Given the description of an element on the screen output the (x, y) to click on. 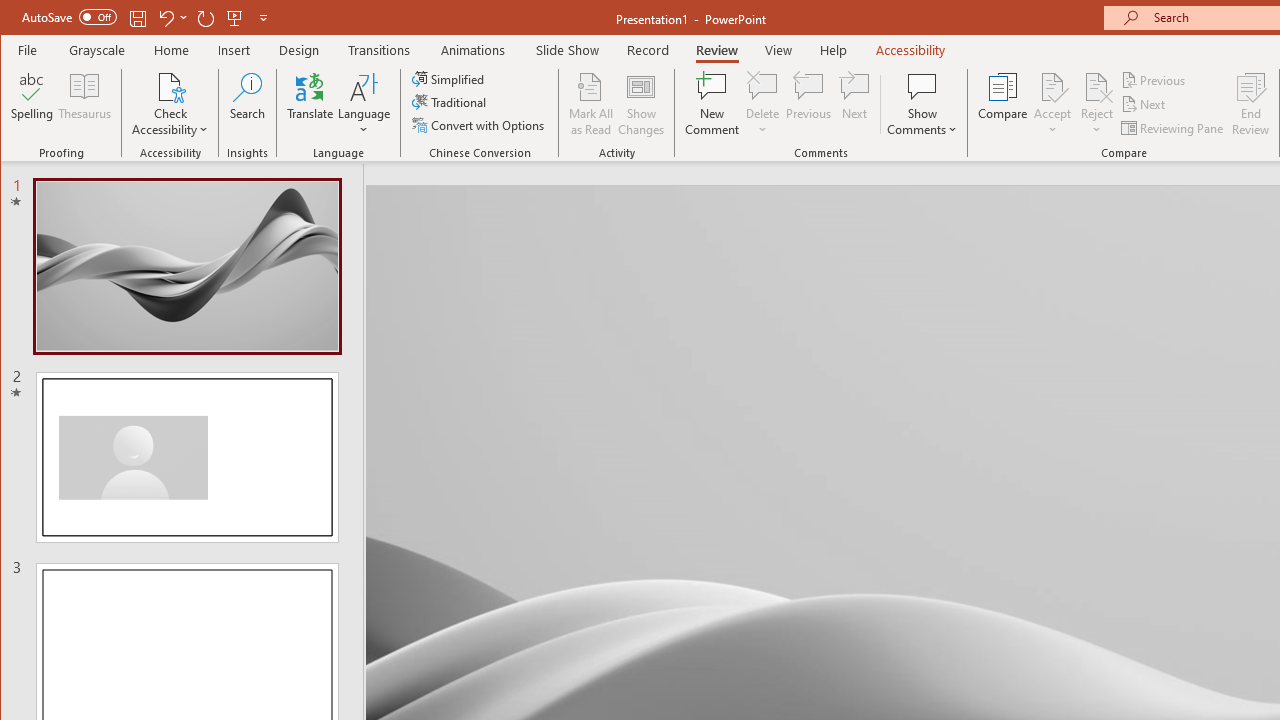
Mark All as Read (591, 104)
Simplified (450, 78)
Compare (1002, 104)
Accept (1052, 104)
